Given the description of an element on the screen output the (x, y) to click on. 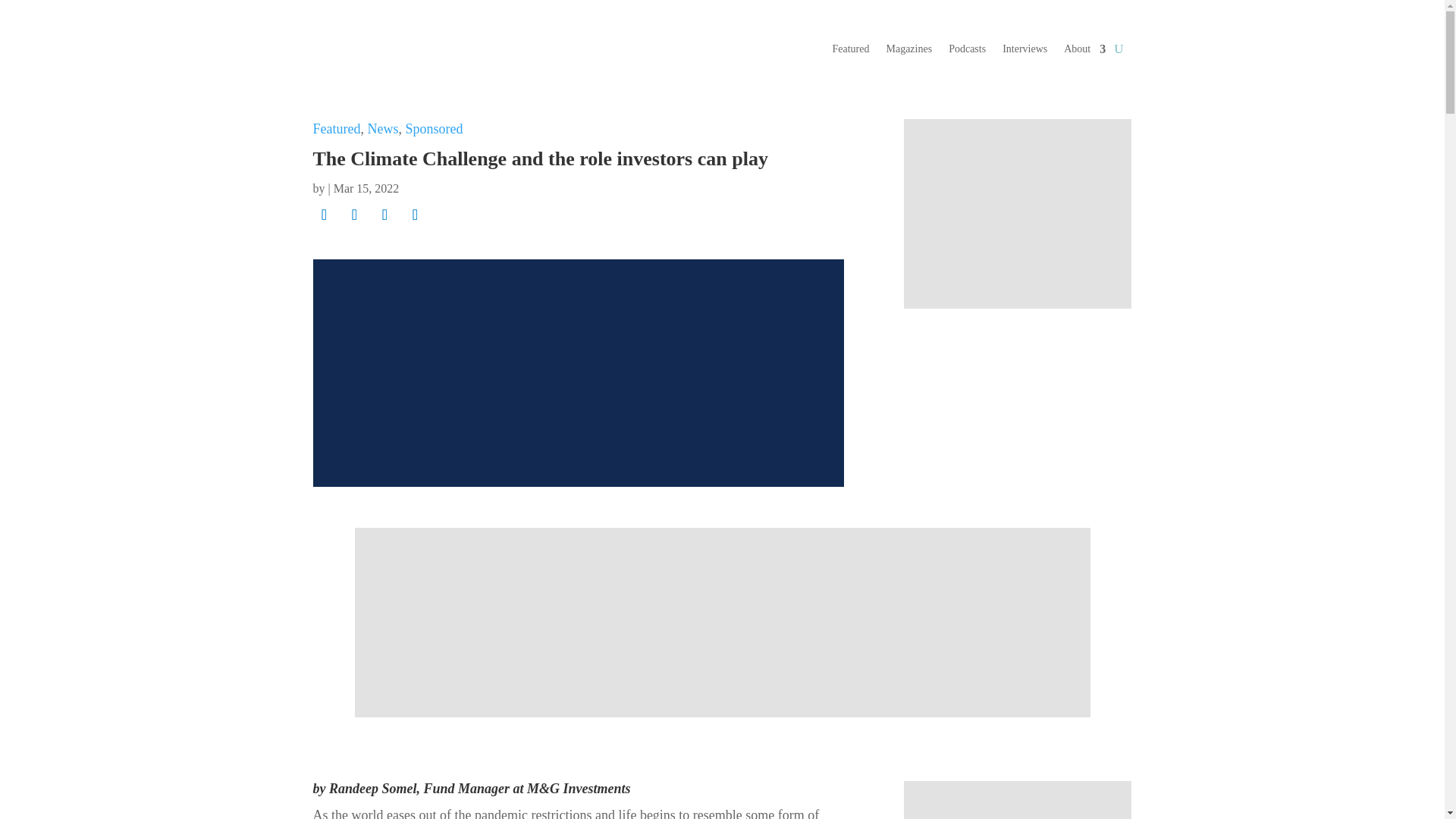
Sponsored (433, 128)
Featured (336, 128)
News (381, 128)
